Given the description of an element on the screen output the (x, y) to click on. 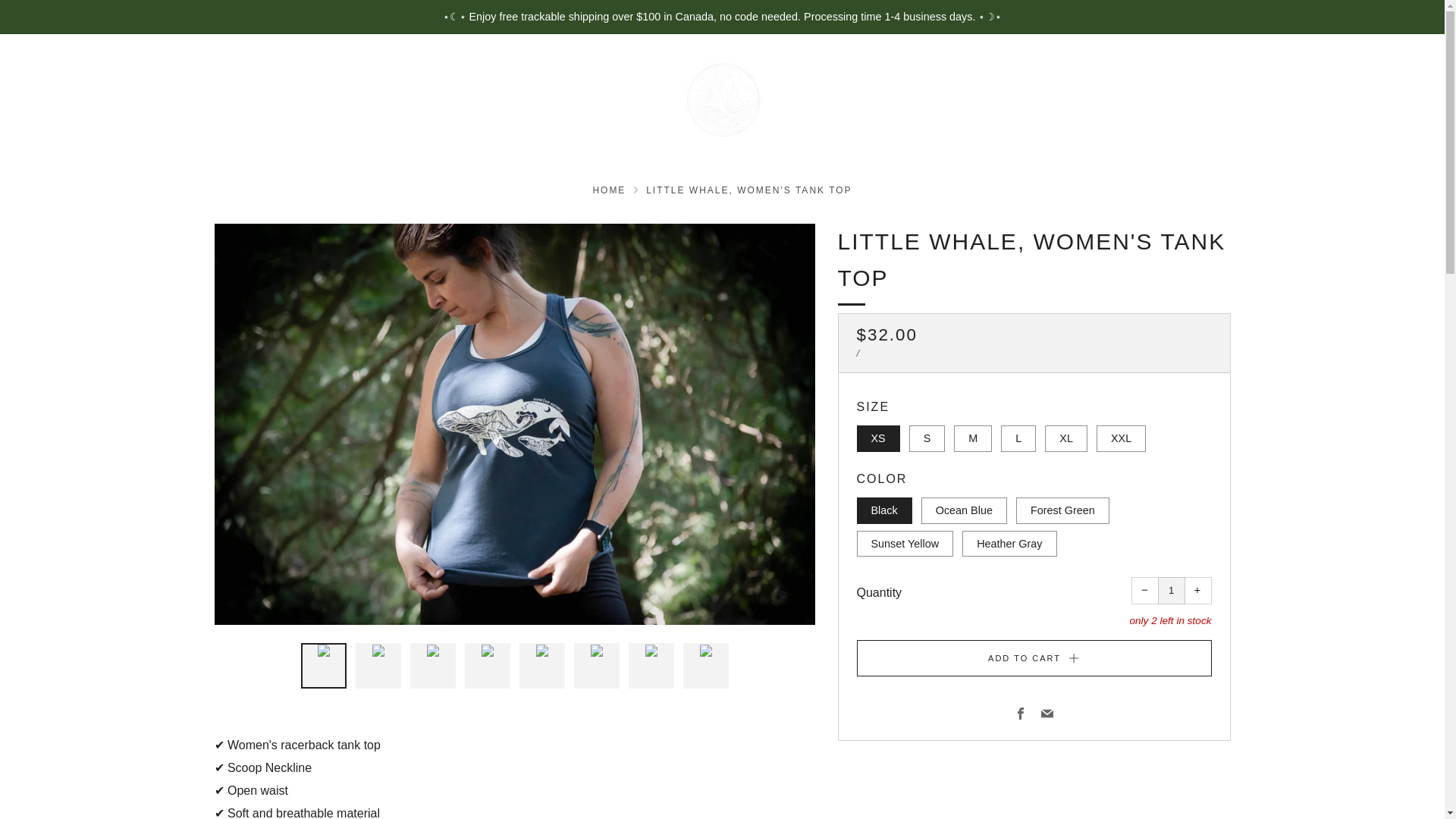
Home (609, 190)
1 (1171, 590)
